Given the description of an element on the screen output the (x, y) to click on. 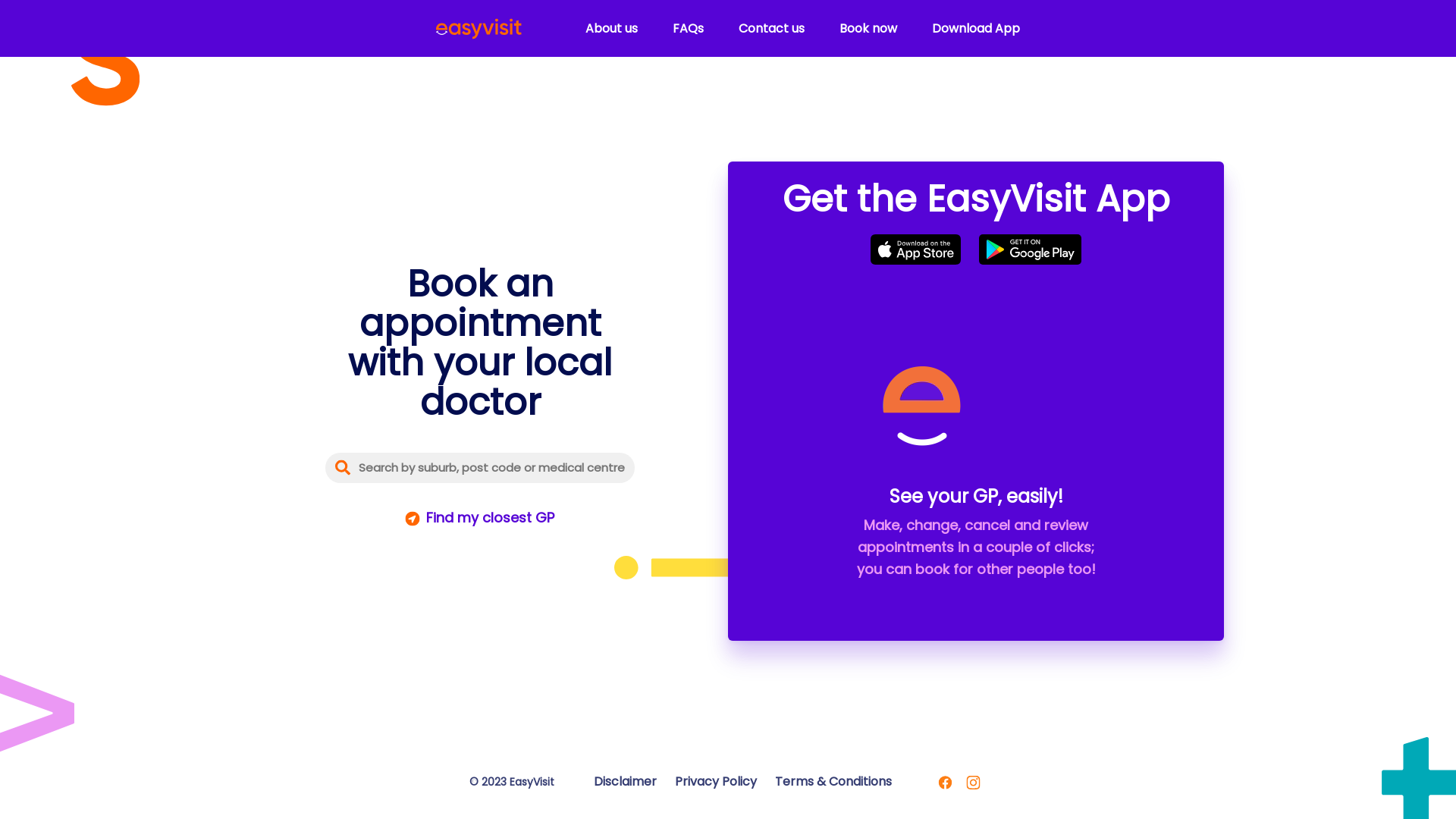
Book now Element type: text (868, 28)
Find my closest GP Element type: text (479, 517)
Disclaimer Element type: text (624, 781)
Instagram Element type: text (972, 781)
Download App Element type: text (975, 28)
Facebook Element type: text (945, 781)
Terms & Conditions Element type: text (832, 781)
About us Element type: text (611, 28)
FAQs Element type: text (687, 28)
Contact us Element type: text (771, 28)
Privacy Policy Element type: text (715, 781)
